Given the description of an element on the screen output the (x, y) to click on. 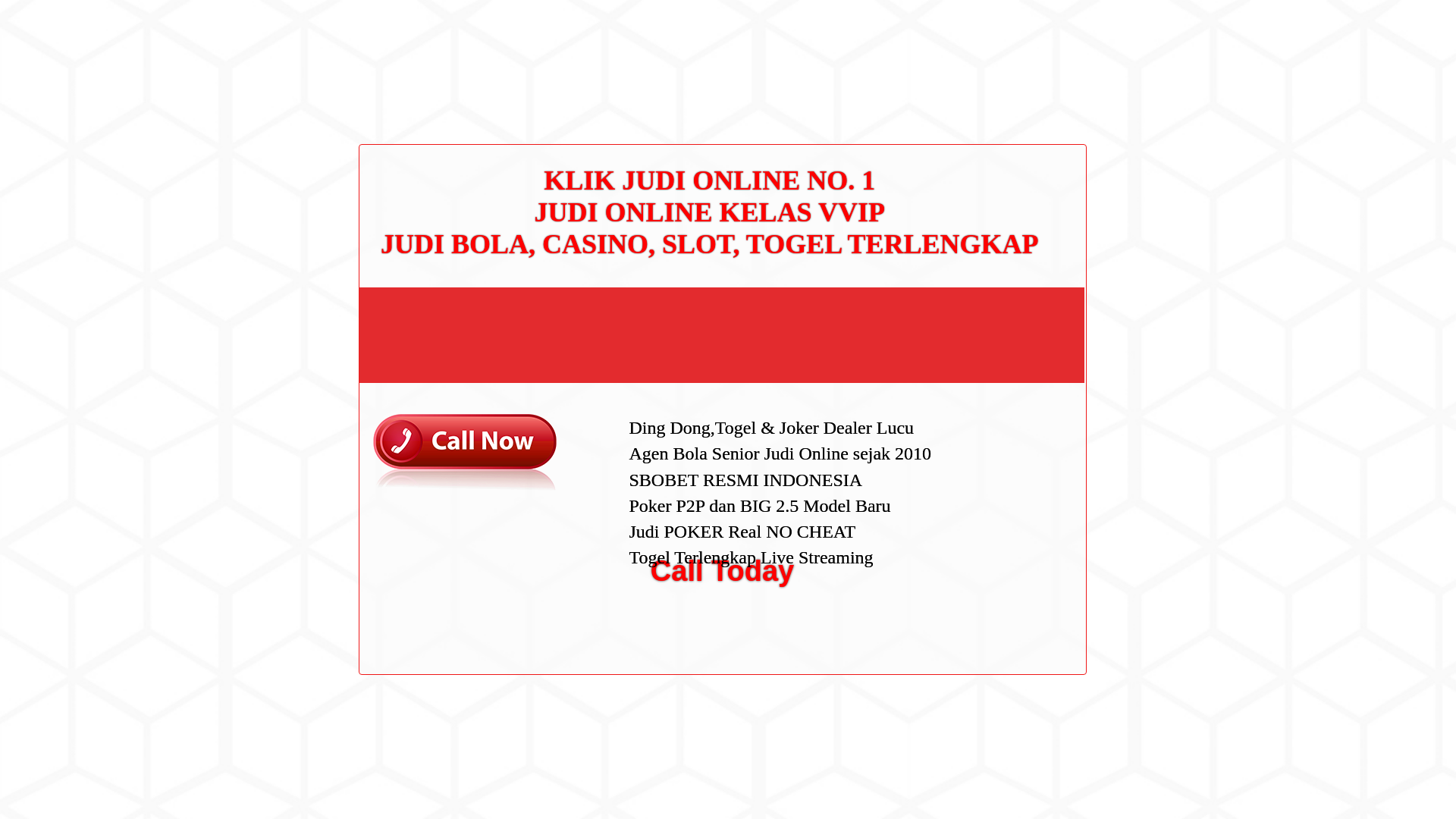
July 2020 (988, 432)
Log in (980, 588)
ADMINISTRATOR (417, 81)
Latest Article (996, 172)
Search for: (1049, 47)
Terms of Use (996, 330)
Privacy Policy (999, 306)
DMCA Policy (996, 282)
Search (1050, 85)
RSS (977, 612)
Contact Us (991, 258)
Blog (976, 510)
Search (1050, 85)
KANONSPORTS.COM (403, 28)
Search (1050, 85)
